Given the description of an element on the screen output the (x, y) to click on. 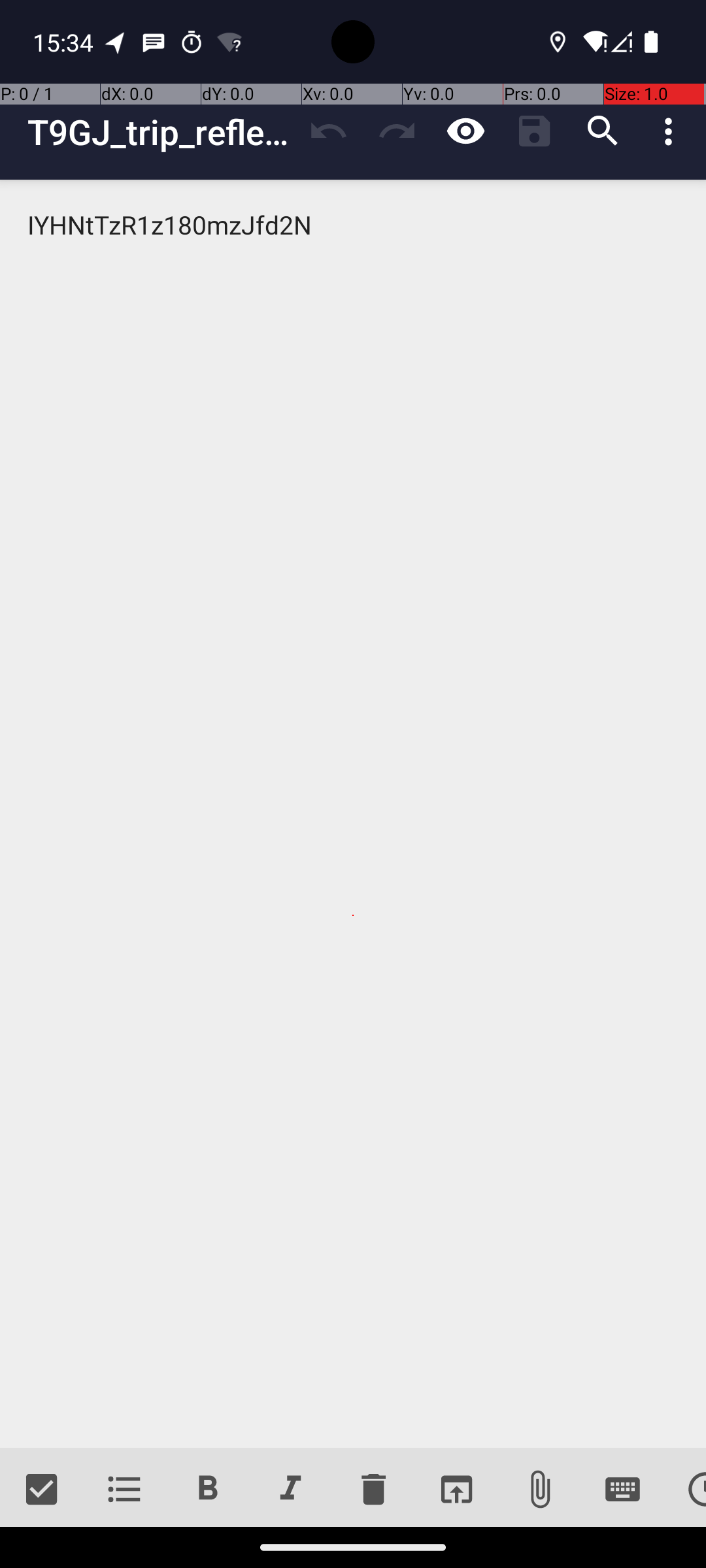
T9GJ_trip_reflections_recent Element type: android.widget.TextView (160, 131)
IYHNtTzR1z180mzJfd2N
 Element type: android.widget.EditText (353, 813)
No phone. Element type: android.widget.FrameLayout (621, 41)
